Given the description of an element on the screen output the (x, y) to click on. 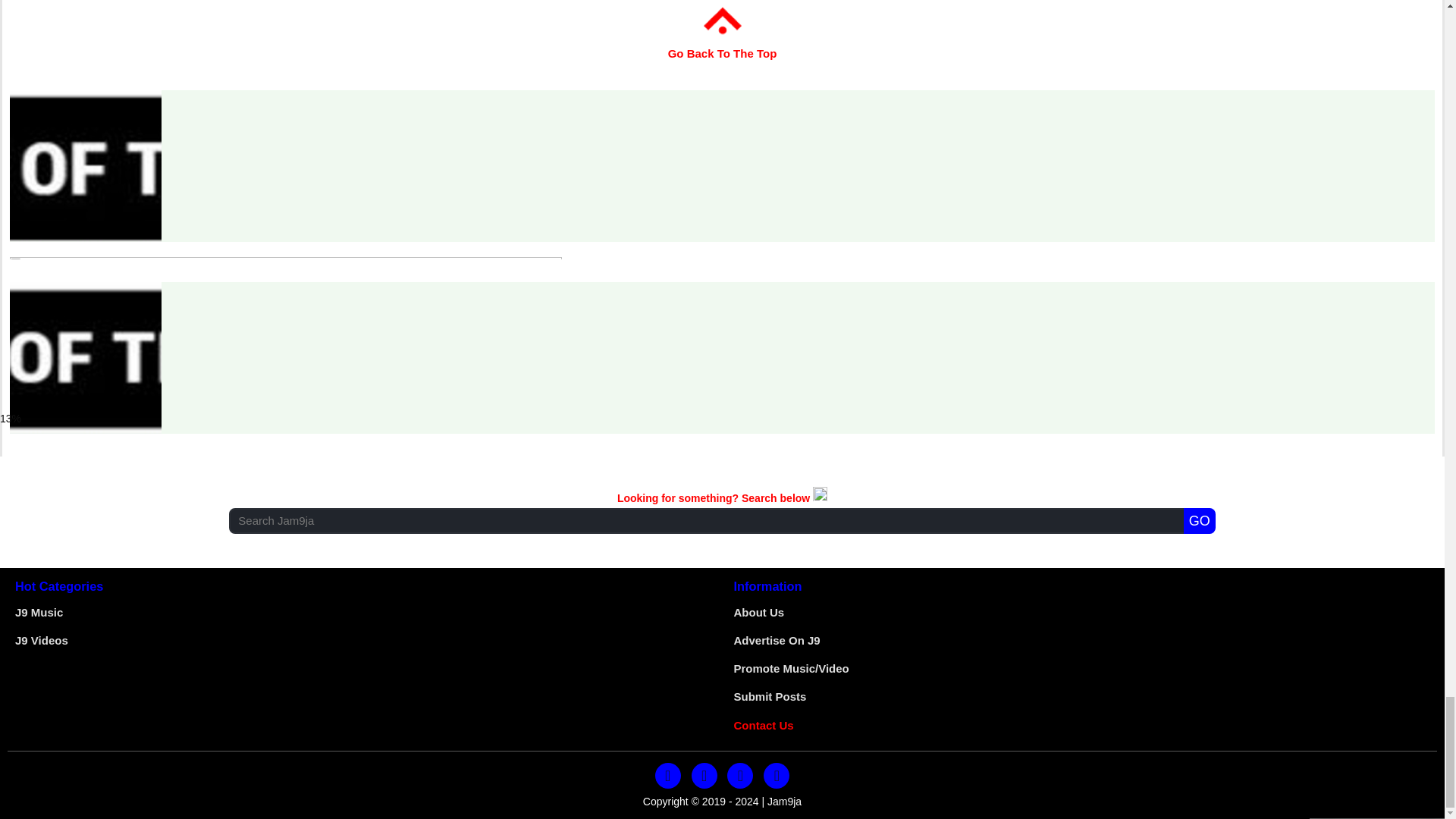
J9 Music (38, 612)
About Us (758, 612)
GO (1199, 520)
Advertise On J9 (777, 640)
GO (1199, 520)
J9 Videos (41, 640)
Go Back To The Top (722, 42)
